Given the description of an element on the screen output the (x, y) to click on. 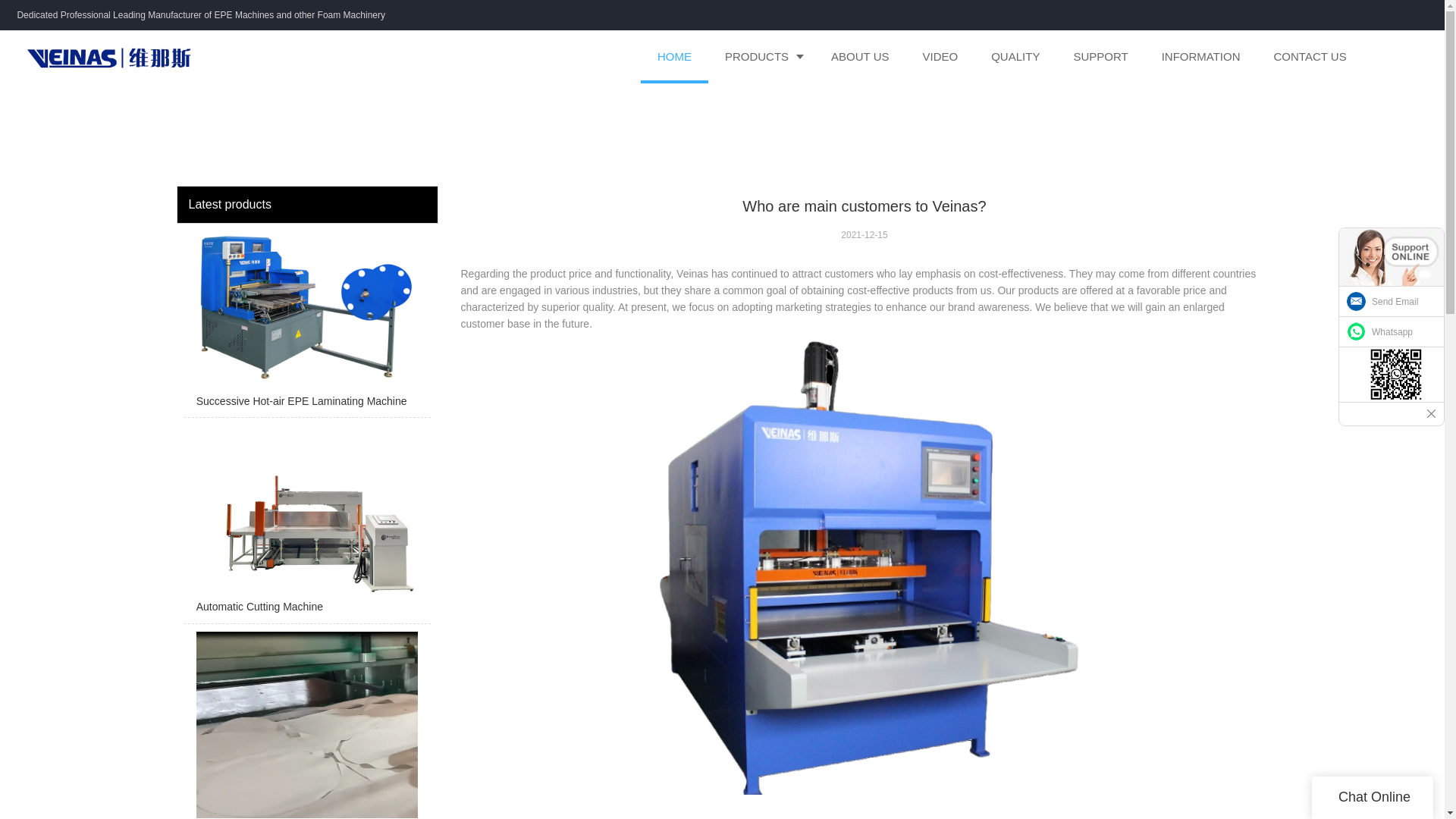
Send Email (1391, 301)
Whatsapp (1391, 331)
PRODUCTS (760, 56)
HOME (673, 56)
Successive Hot-air EPE Laminating Machine (306, 323)
ABOUT US (859, 56)
SUPPORT (1100, 56)
Automatic Cutting Machine (306, 524)
QUALITY (1015, 56)
INFORMATION (1200, 56)
Automatic Two-side Four-column Oil Press Machine for Fabric (306, 725)
VIDEO (940, 56)
CONTACT US (1309, 56)
